Given the description of an element on the screen output the (x, y) to click on. 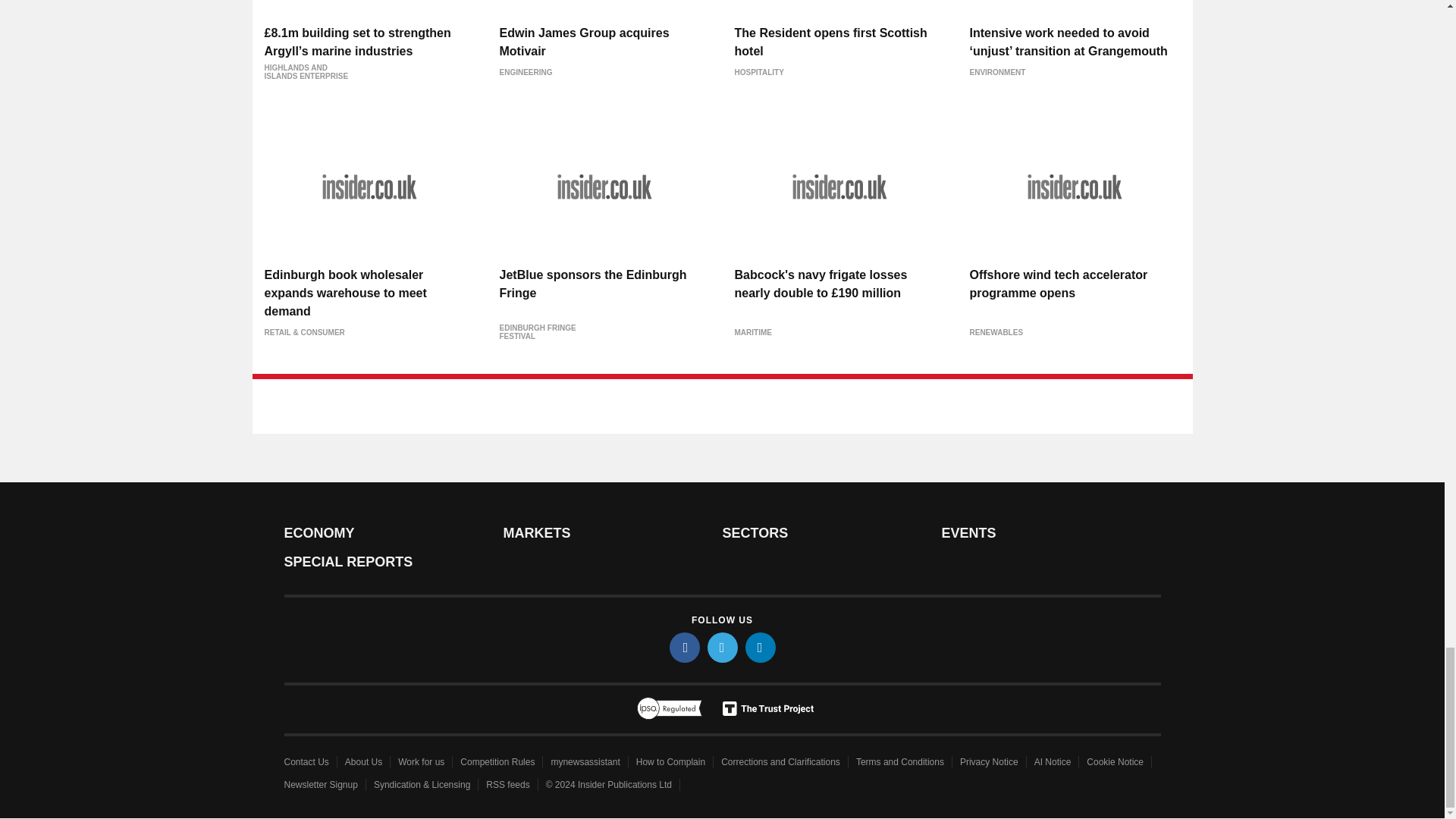
linkedin (759, 647)
facebook (683, 647)
twitter (721, 647)
